Given the description of an element on the screen output the (x, y) to click on. 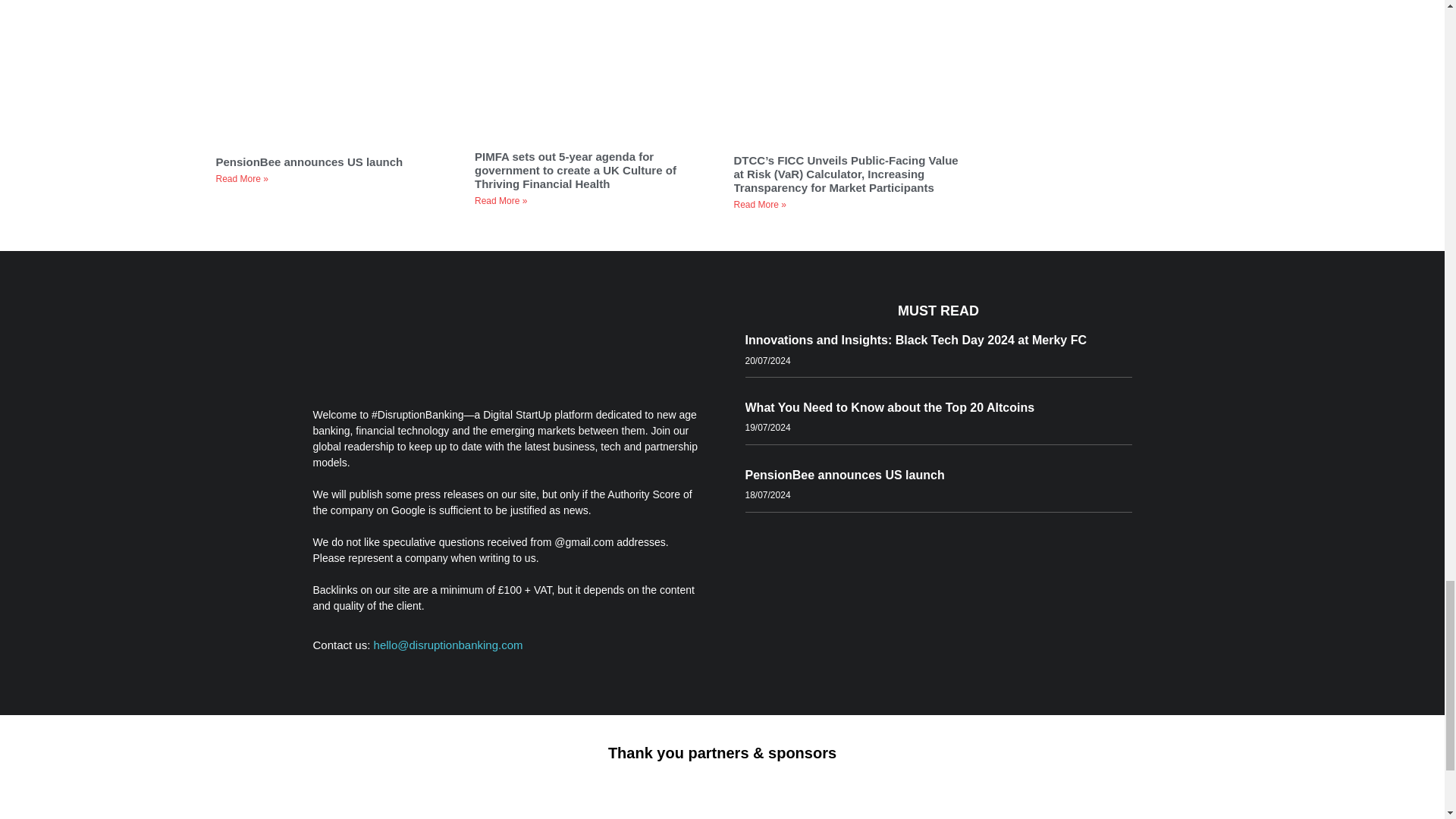
PensionBee announces US launch  (310, 161)
